Given the description of an element on the screen output the (x, y) to click on. 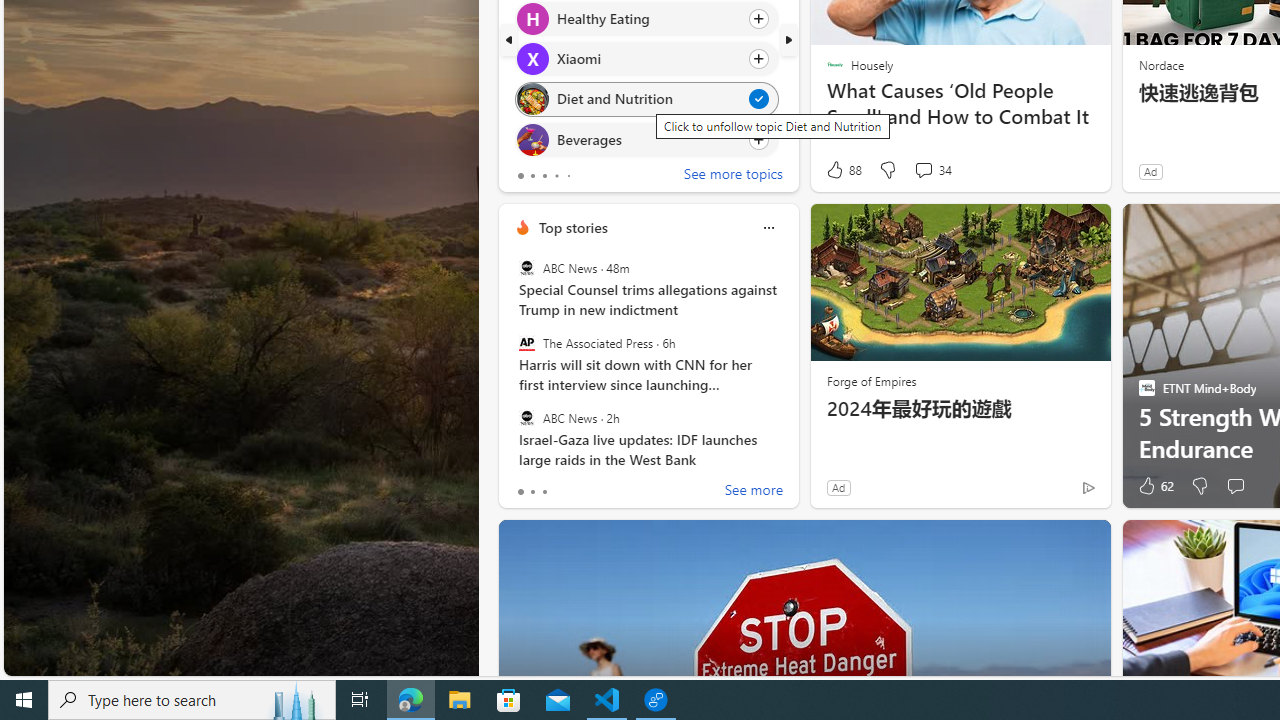
62 Like (1154, 485)
Start the conversation (1234, 485)
ABC News (526, 417)
The Associated Press (526, 343)
Click to follow topic Xiaomi (646, 59)
